Given the description of an element on the screen output the (x, y) to click on. 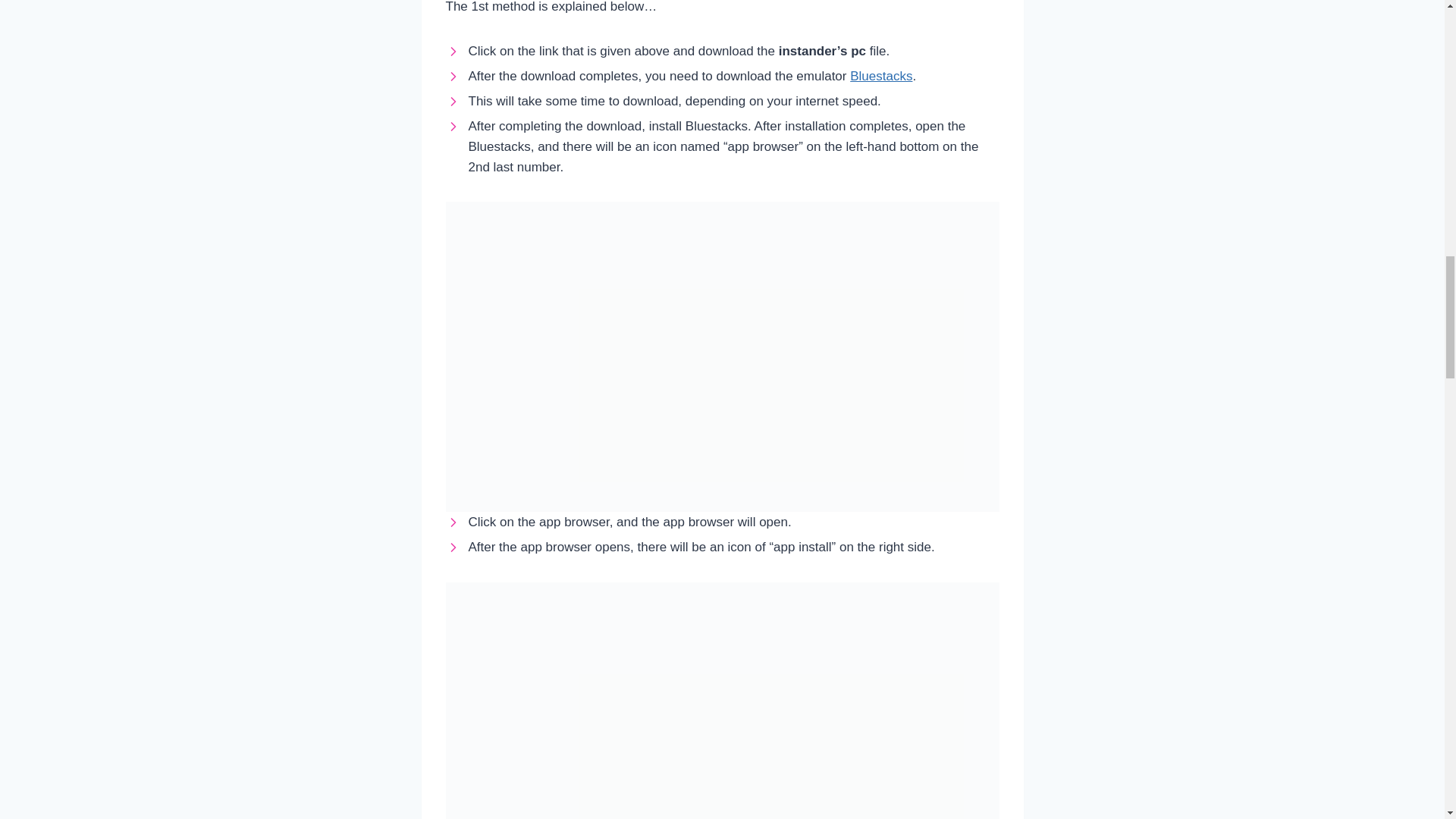
Bluestacks (881, 75)
